Given the description of an element on the screen output the (x, y) to click on. 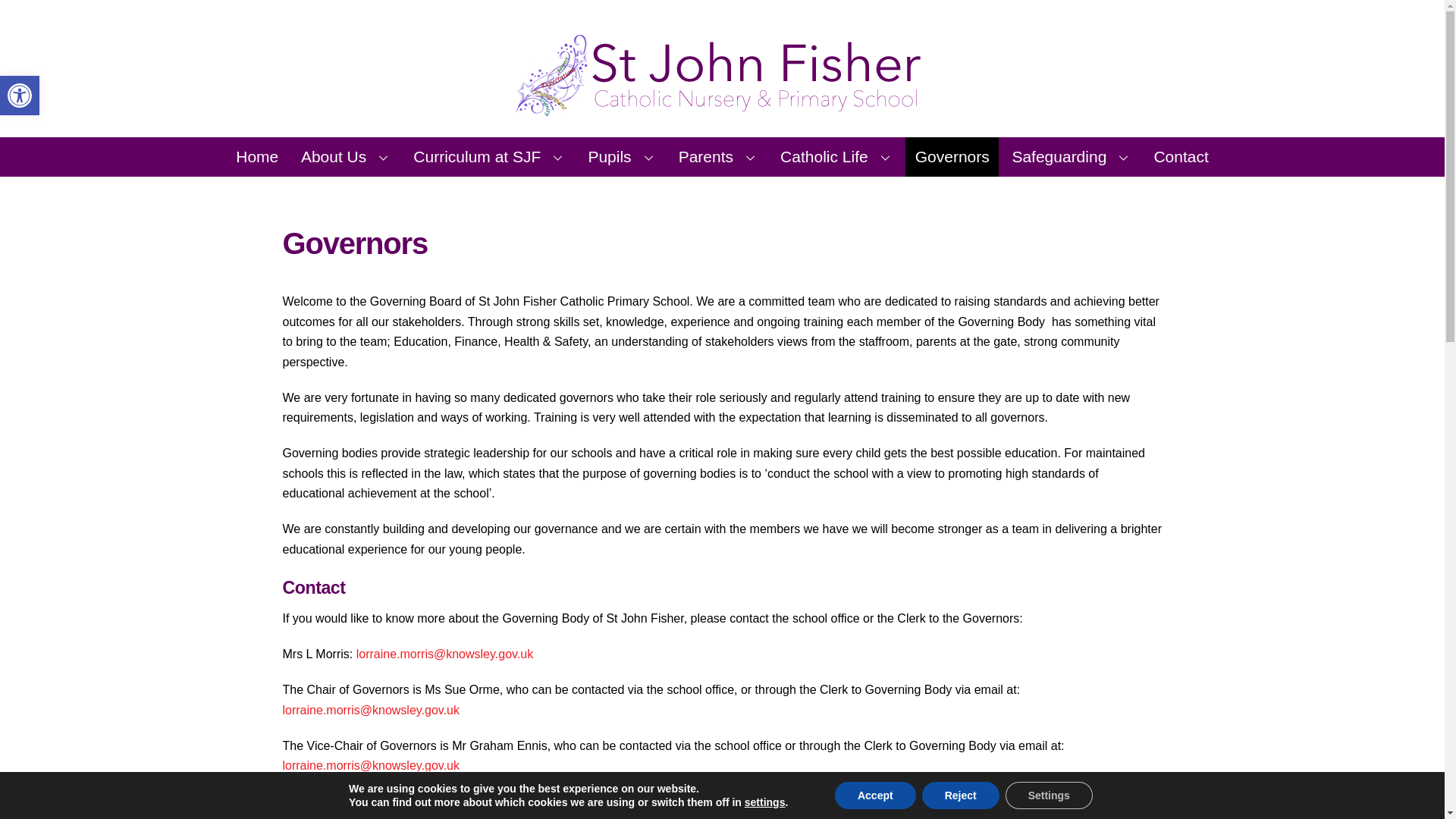
Accessibility Tools (19, 95)
St John Fisher Catholic Primary School (722, 109)
Curriculum at SJF (19, 95)
About Us (489, 156)
Home (345, 156)
Accessibility Tools (257, 156)
